Given the description of an element on the screen output the (x, y) to click on. 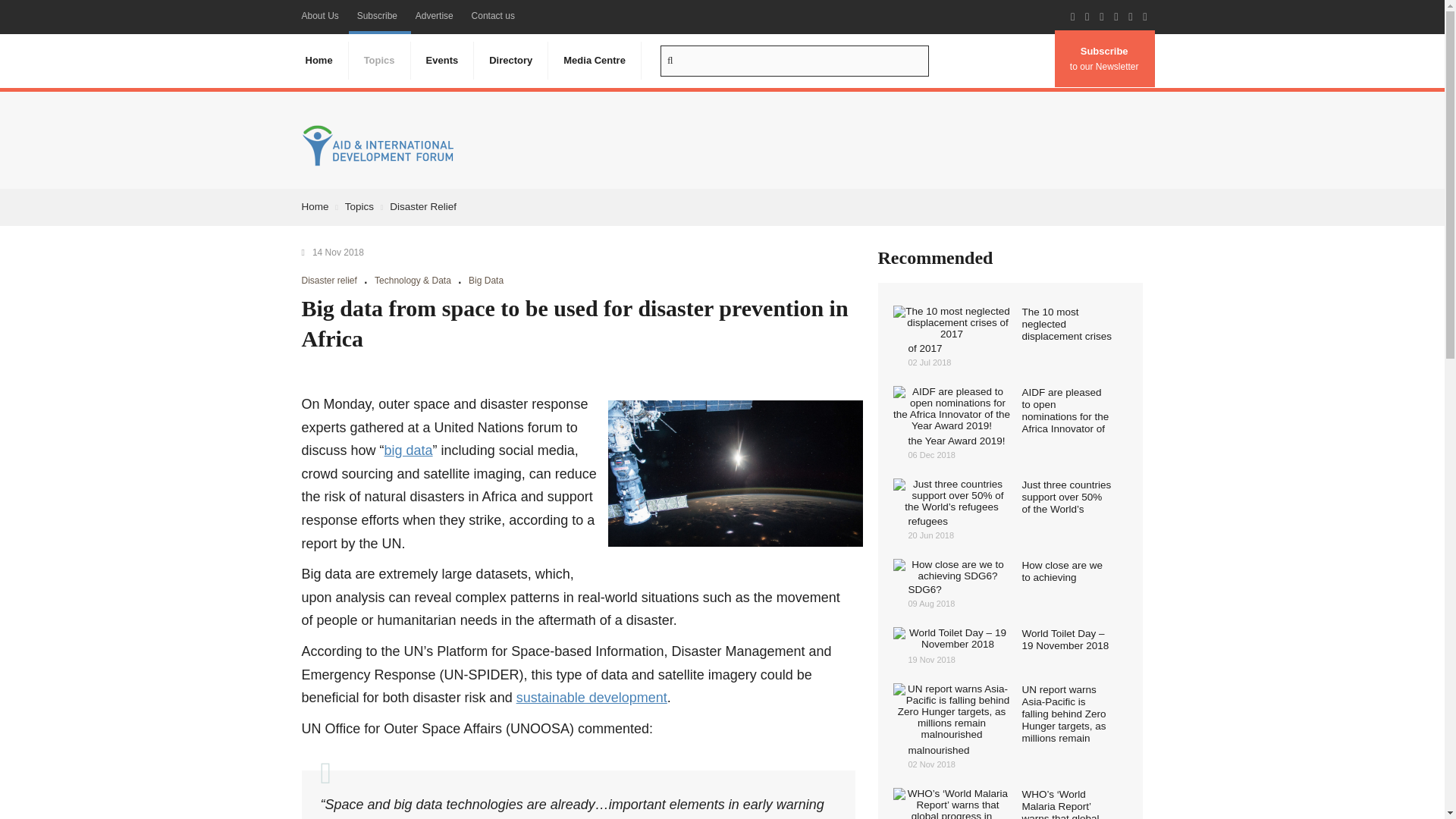
Subscribe (376, 15)
Topics (379, 60)
About Us (320, 15)
Home (318, 60)
Contact us (493, 15)
Advertise (434, 15)
